Given the description of an element on the screen output the (x, y) to click on. 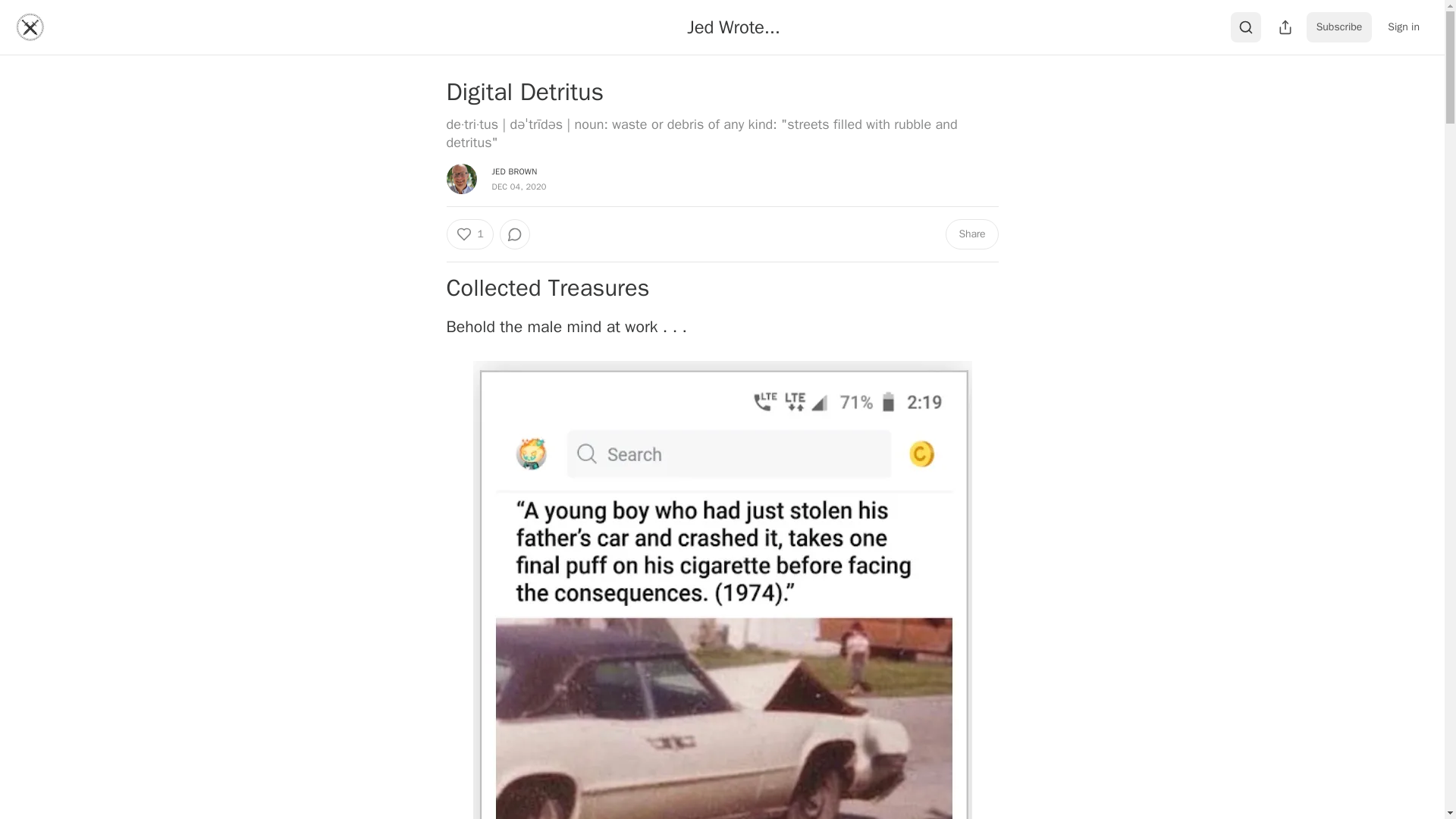
JED BROWN (514, 171)
Jed Wrote... (732, 26)
Share (970, 234)
1 (469, 234)
Sign in (1403, 27)
Subscribe (1339, 27)
